Given the description of an element on the screen output the (x, y) to click on. 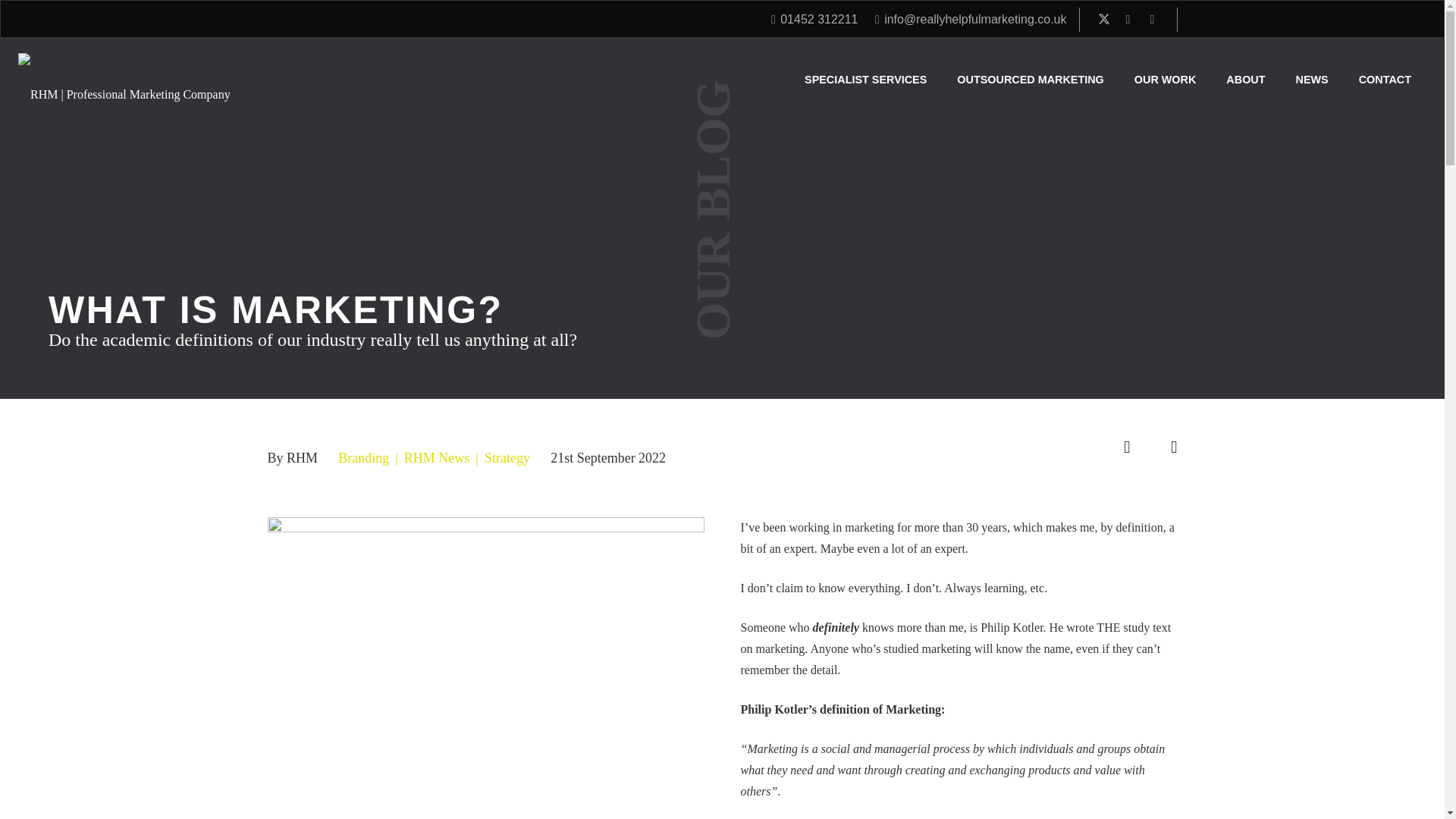
SPECIALIST SERVICES (865, 79)
LinkedIn (1152, 19)
01452 312211 (815, 19)
Twitter (1104, 19)
Specialist Services (865, 79)
Facebook (1128, 19)
